Given the description of an element on the screen output the (x, y) to click on. 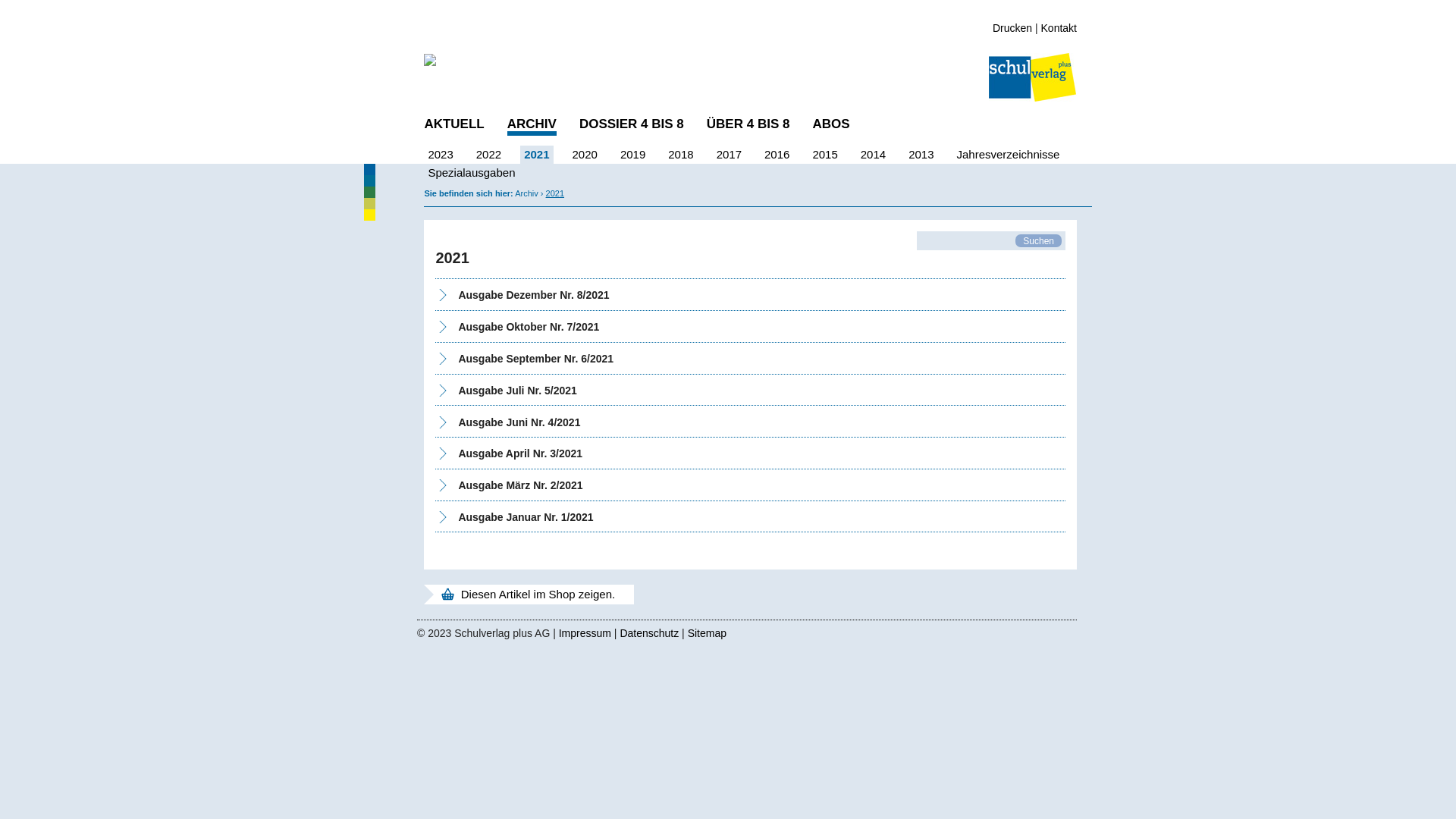
Suchen Element type: text (1038, 240)
AKTUELL Element type: text (453, 123)
2017 Element type: text (728, 153)
Impressum Element type: text (586, 633)
Sitemap Element type: text (706, 633)
DOSSIER 4 BIS 8 Element type: text (631, 123)
Diesen Artikel im Shop zeigen. Element type: text (526, 593)
2018 Element type: text (680, 153)
2014 Element type: text (872, 153)
2013 Element type: text (920, 153)
2021 Element type: text (536, 153)
Drucken Element type: text (1012, 27)
Kontakt Element type: text (1058, 27)
2022 Element type: text (488, 153)
2021 Element type: text (555, 192)
Jahresverzeichnisse Element type: text (1008, 153)
Archiv Element type: text (527, 192)
2023 Element type: text (439, 153)
Spezialausgaben Element type: text (470, 172)
ABOS Element type: text (830, 123)
Datenschutz Element type: text (650, 633)
2016 Element type: text (776, 153)
2020 Element type: text (583, 153)
2015 Element type: text (824, 153)
ARCHIV Element type: text (531, 125)
2019 Element type: text (632, 153)
